Given the description of an element on the screen output the (x, y) to click on. 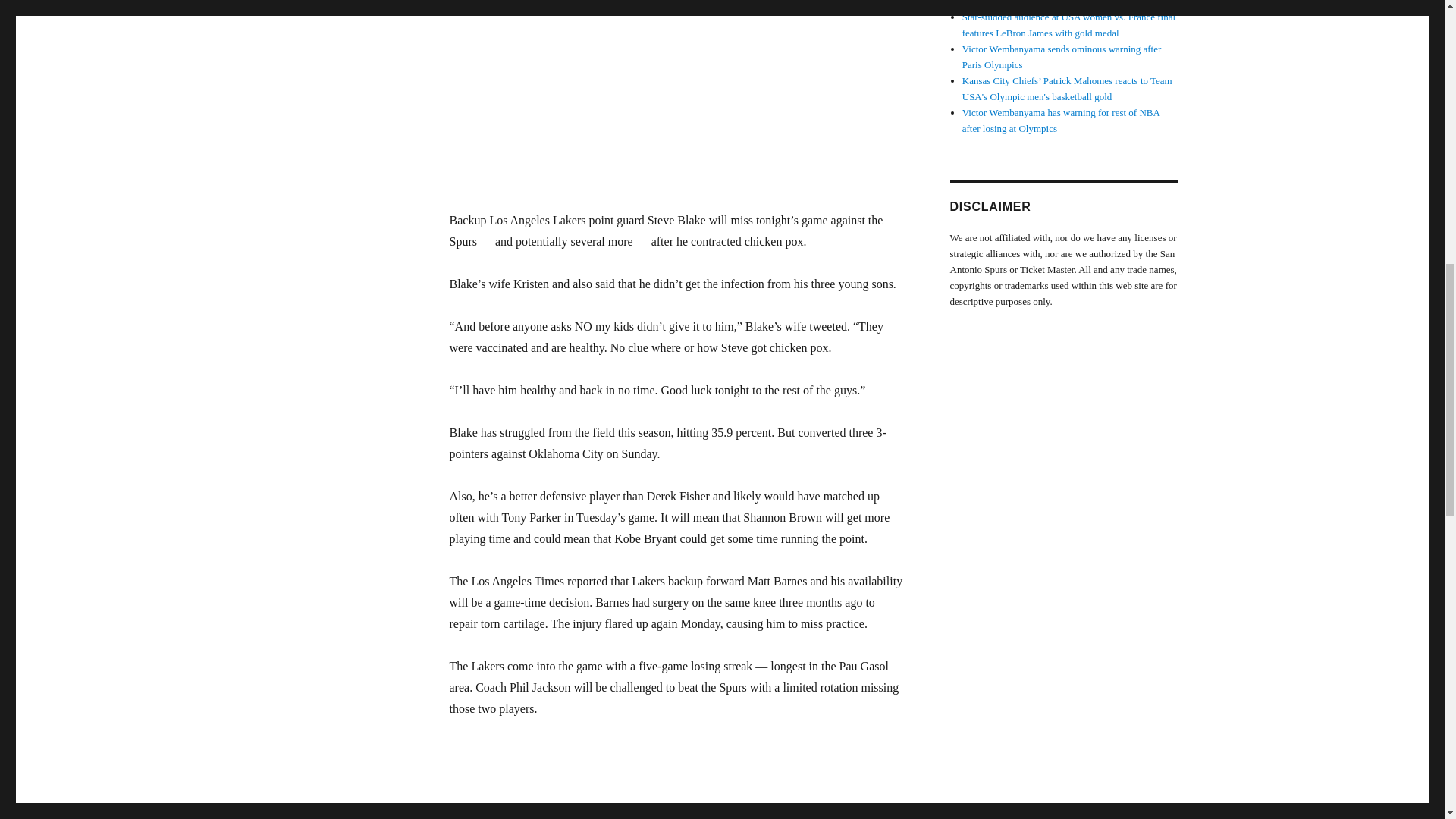
Victor Wembanyama sends ominous warning after Paris Olympics (1061, 56)
